Given the description of an element on the screen output the (x, y) to click on. 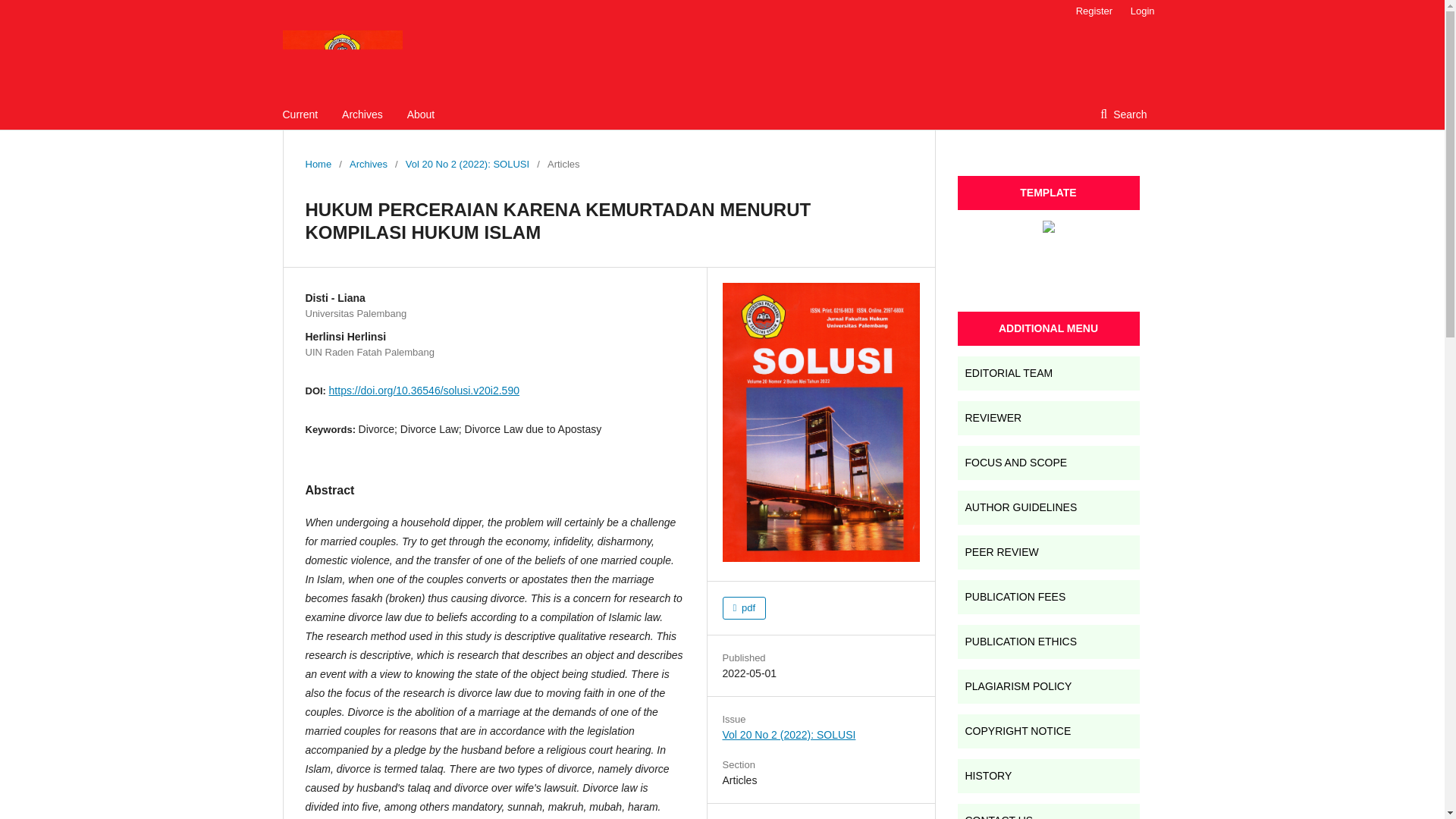
TEMPLATE (1047, 192)
Search (1122, 114)
REVIEWER (1047, 417)
PEER REVIEW (1047, 552)
CONTACT US (1047, 811)
PUBLICATION ETHICS (1047, 641)
EDITORIAL TEAM (1047, 373)
Login (1138, 11)
AUTHOR GUIDELINES (1047, 507)
Home (317, 164)
